Given the description of an element on the screen output the (x, y) to click on. 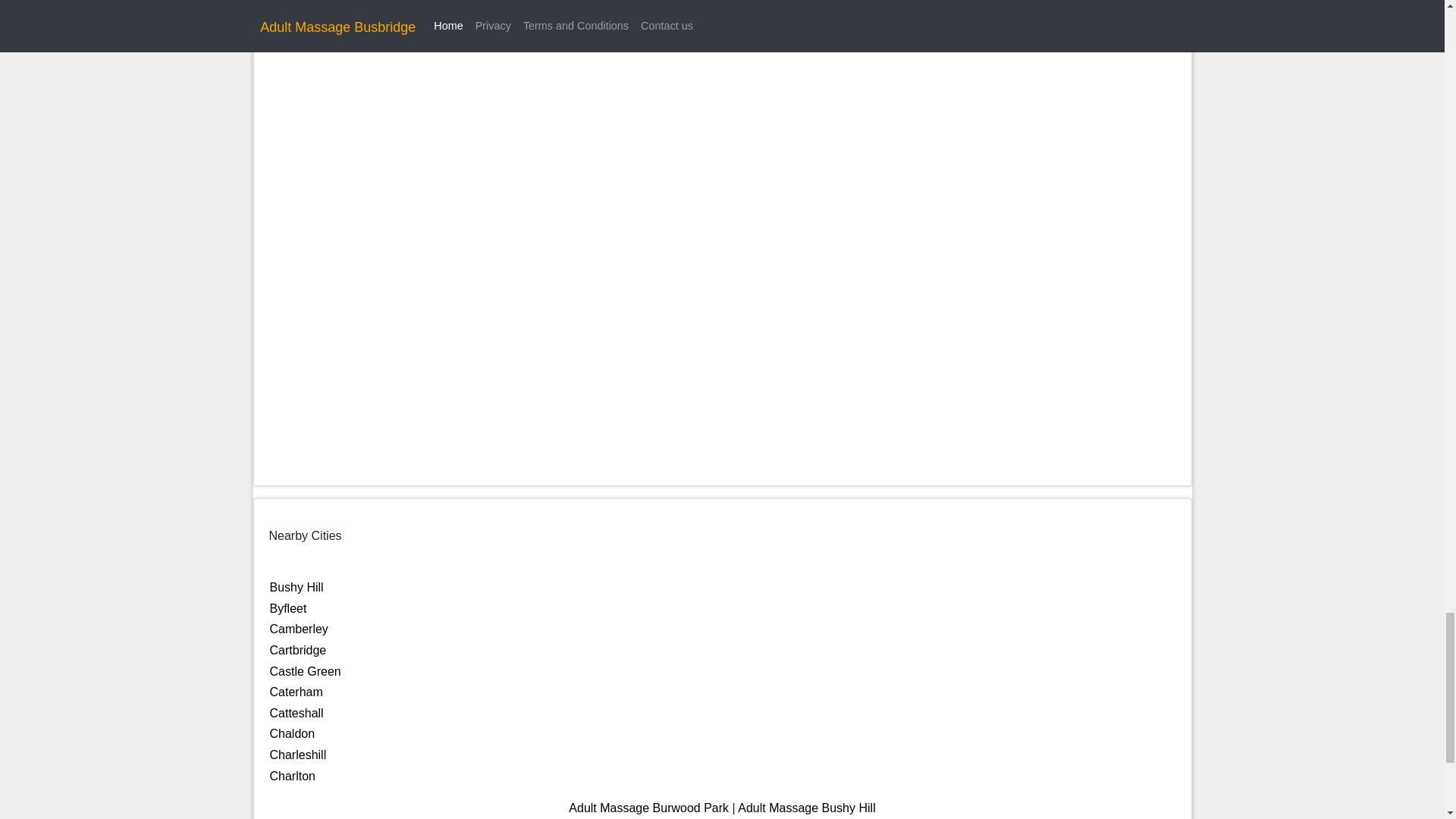
Chaldon (292, 733)
Camberley (299, 628)
Bushy Hill (296, 586)
Adult Massage Burwood Park (649, 807)
Castle Green (304, 671)
Caterham (296, 691)
Cartbridge (297, 649)
Byfleet (288, 608)
Charleshill (297, 754)
Catteshall (296, 712)
